Given the description of an element on the screen output the (x, y) to click on. 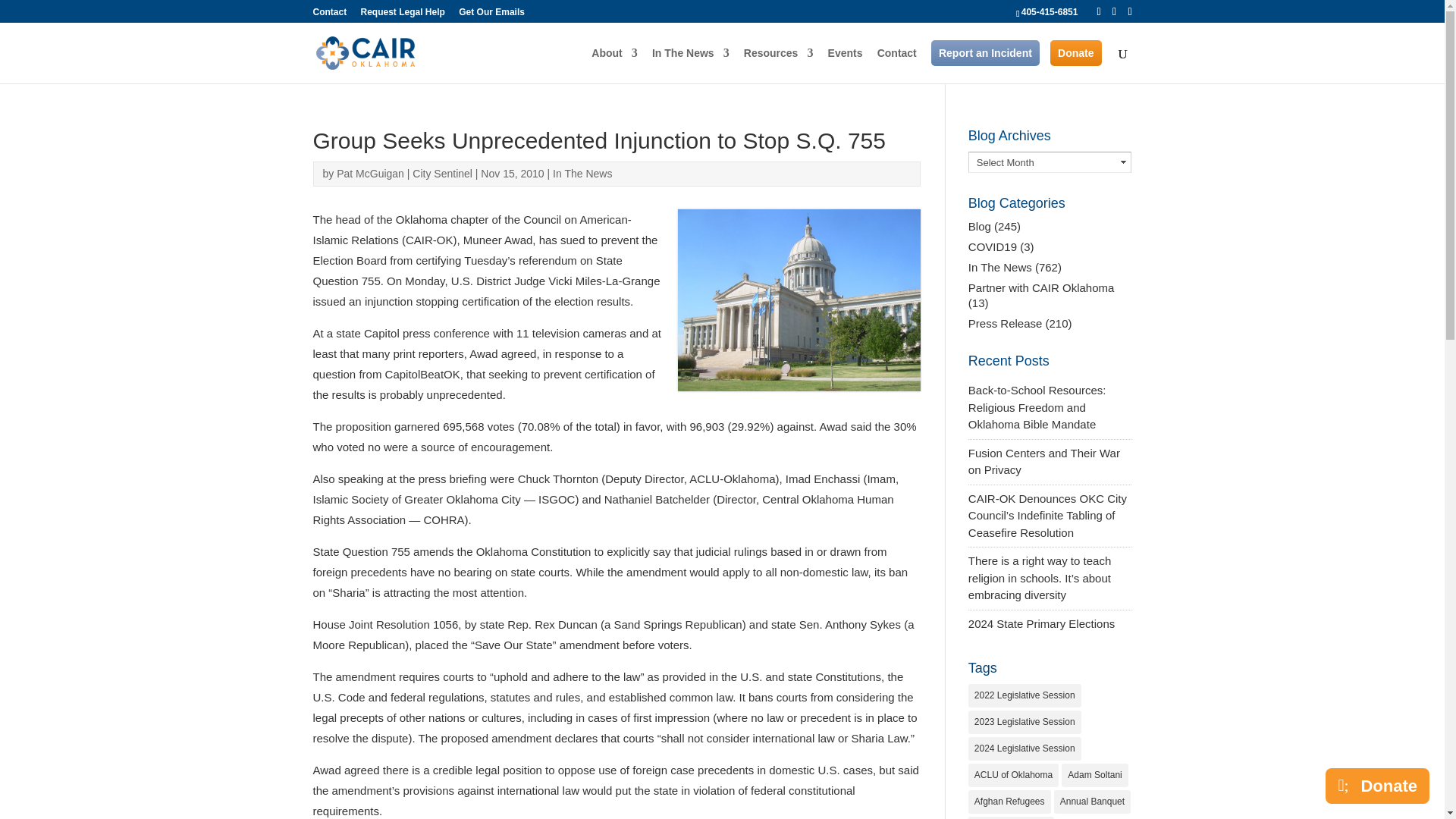
About (614, 65)
Resources (778, 65)
Report an Incident (985, 53)
Get Our Emails (491, 15)
Events (845, 65)
Contact (329, 15)
In The News (690, 65)
Donate (1074, 53)
Request Legal Help (403, 15)
Contact (897, 65)
